Given the description of an element on the screen output the (x, y) to click on. 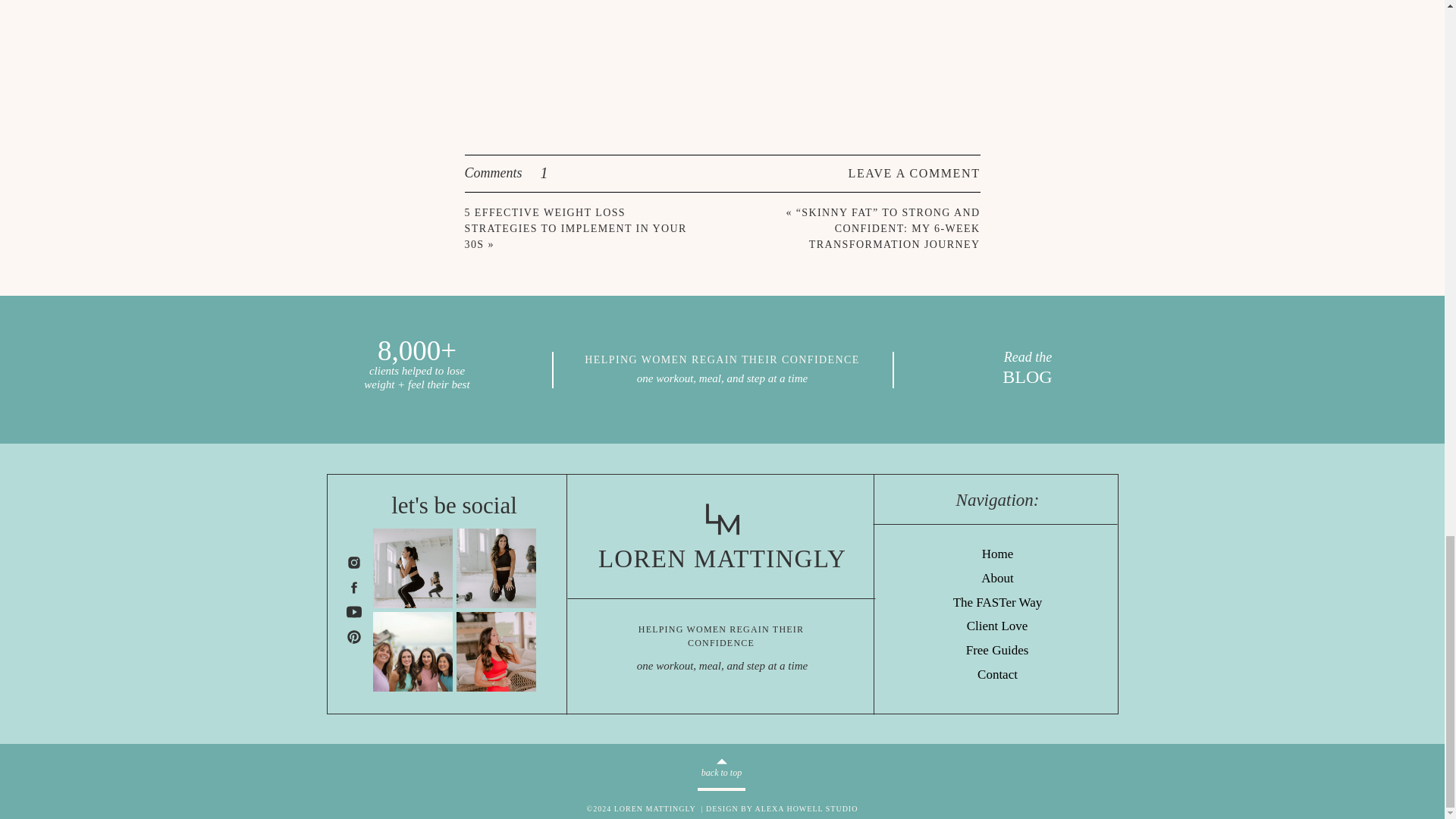
Free Guides (997, 651)
5 EFFECTIVE WEIGHT LOSS STRATEGIES TO IMPLEMENT IN YOUR 30S (574, 228)
Read the (1027, 357)
fw-conference-selling-8 (412, 651)
LEAVE A COMMENT (894, 172)
BLOG (1026, 378)
Client Love (996, 626)
Home (997, 554)
loren2 (496, 568)
About (997, 579)
The FASTer Way (997, 602)
Comments (545, 173)
Contact (996, 674)
8W0A9856 (496, 651)
